Given the description of an element on the screen output the (x, y) to click on. 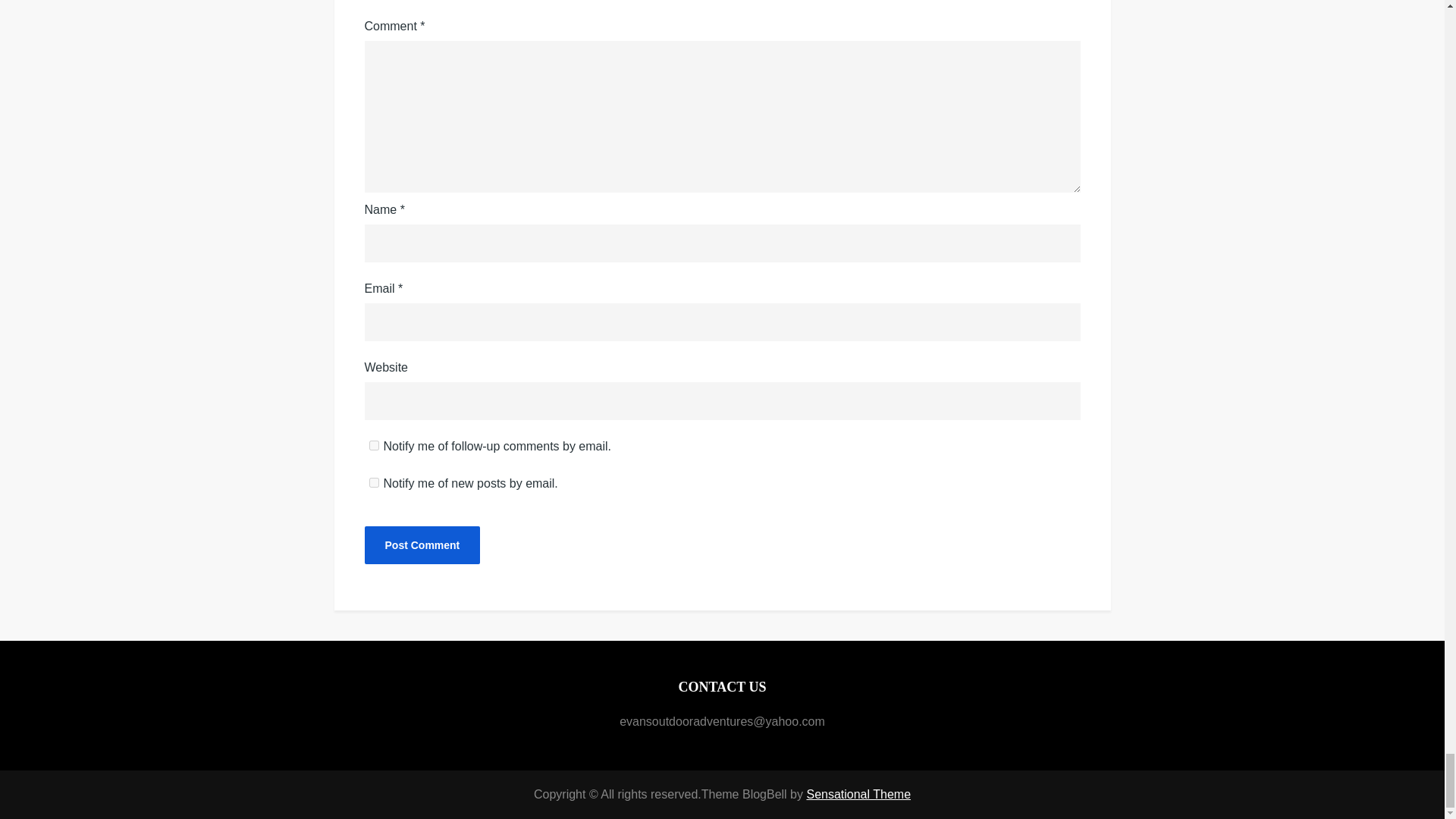
subscribe (373, 482)
Post Comment (422, 545)
subscribe (373, 445)
